Given the description of an element on the screen output the (x, y) to click on. 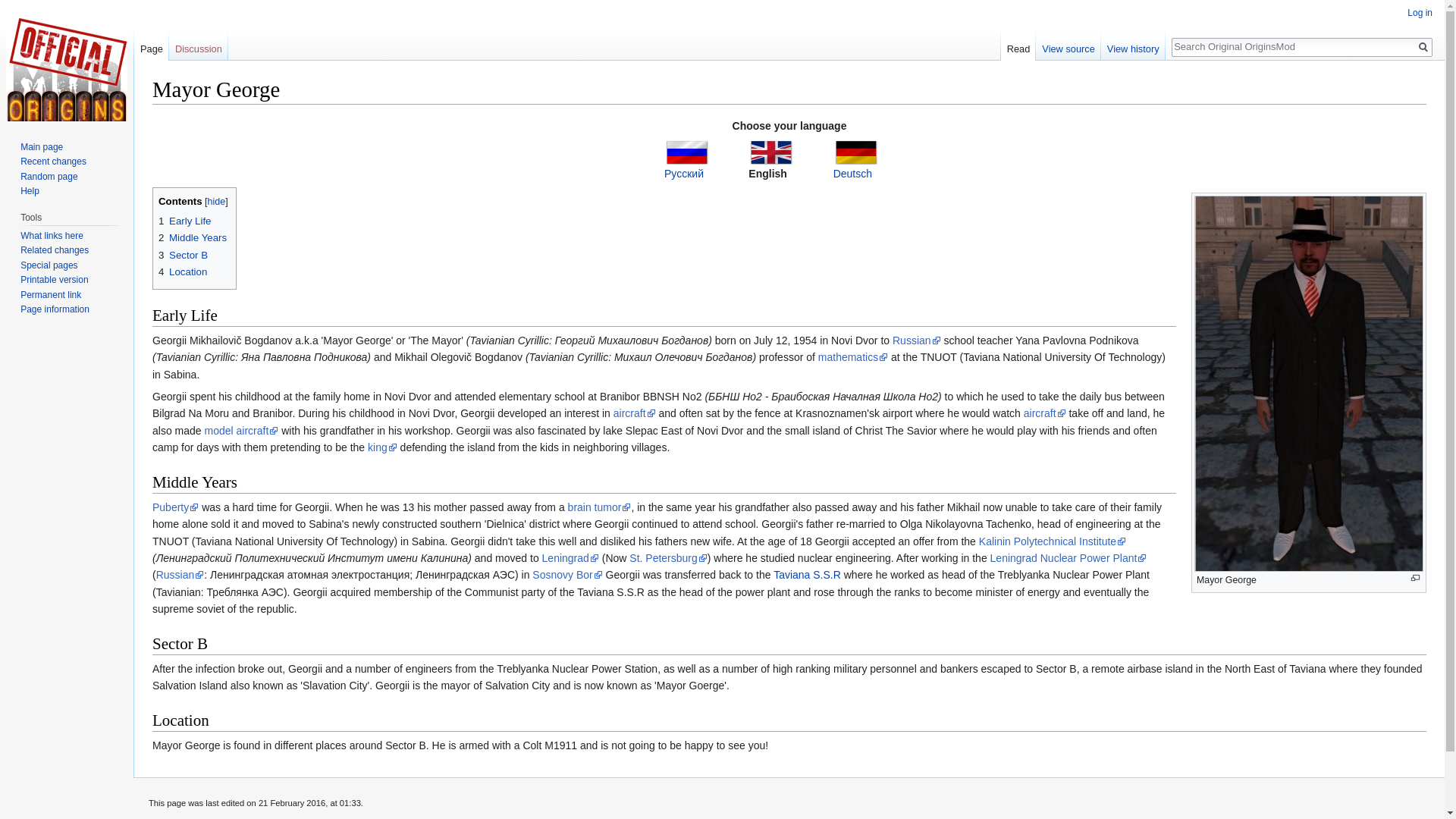
St. Petersburg (667, 558)
Visit the main page (66, 60)
Kalinin Polytechnical Institute (1051, 541)
View history (1133, 45)
Page (150, 45)
Go (1423, 46)
aircraft (1044, 413)
Log in (1419, 12)
aircraft (634, 413)
mathematics (853, 357)
Go (1423, 46)
Leningrad Nuclear Power Plant (1068, 558)
Sosnovy Bor (567, 574)
Russian (916, 340)
model aircraft (240, 430)
